Given the description of an element on the screen output the (x, y) to click on. 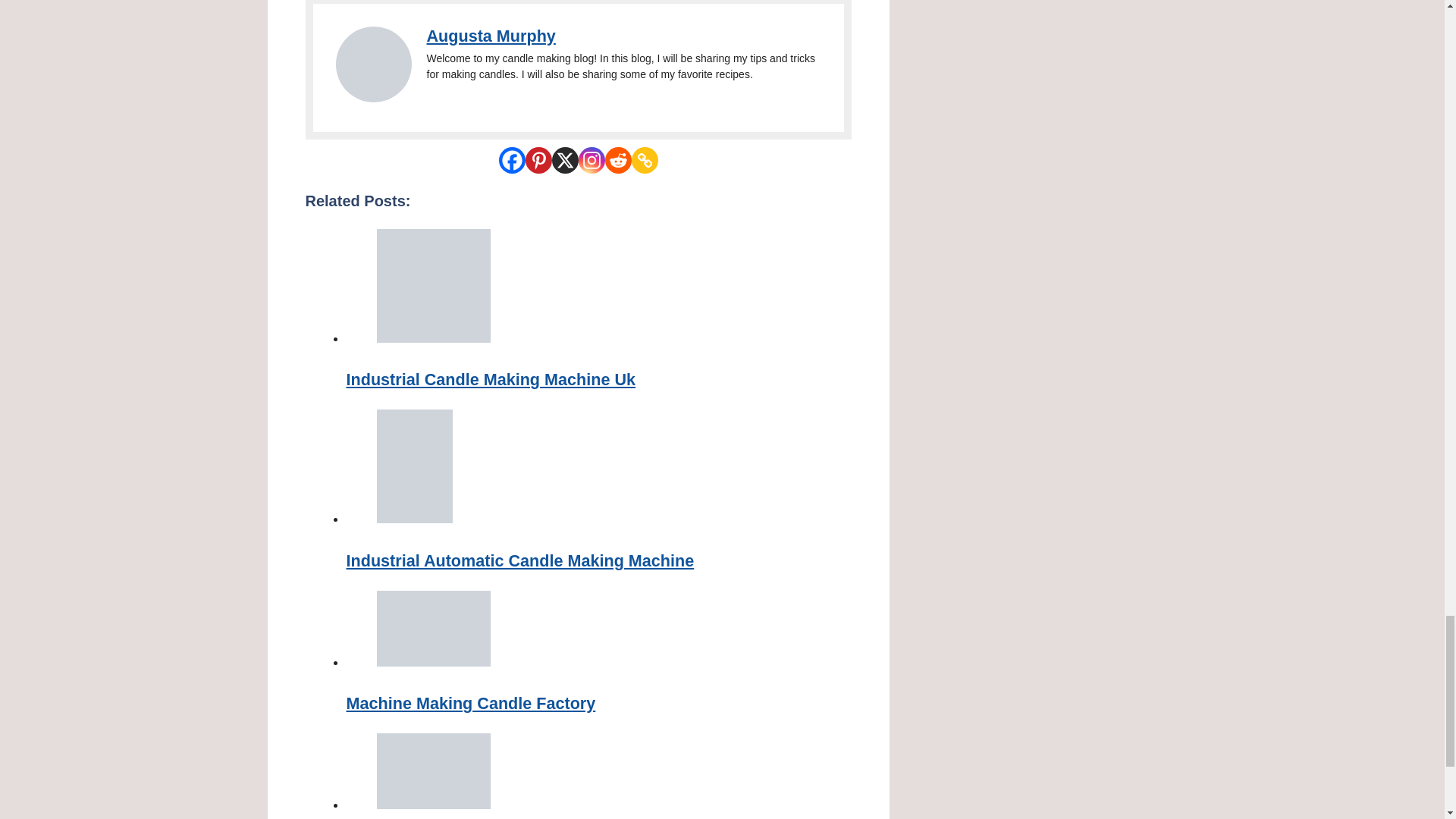
Copy Link (644, 160)
Instagram (591, 160)
Reddit (618, 160)
Industrial Candle Making Machine Factory 2 (372, 64)
Pinterest (537, 160)
Facebook (512, 160)
X (564, 160)
